Given the description of an element on the screen output the (x, y) to click on. 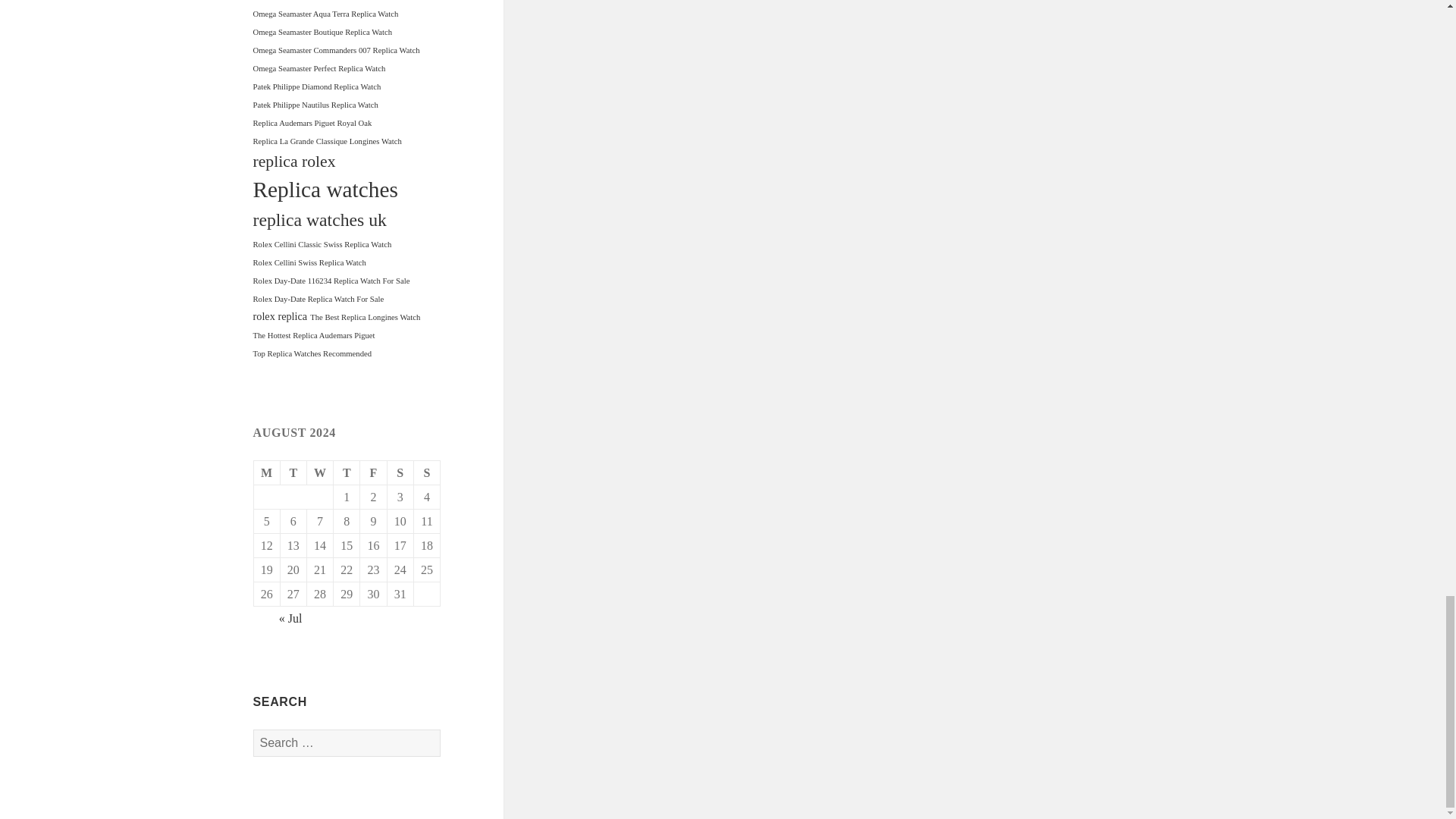
Sunday (427, 473)
Friday (373, 473)
Monday (267, 473)
Thursday (346, 473)
Wednesday (320, 473)
Saturday (400, 473)
Tuesday (294, 473)
